Given the description of an element on the screen output the (x, y) to click on. 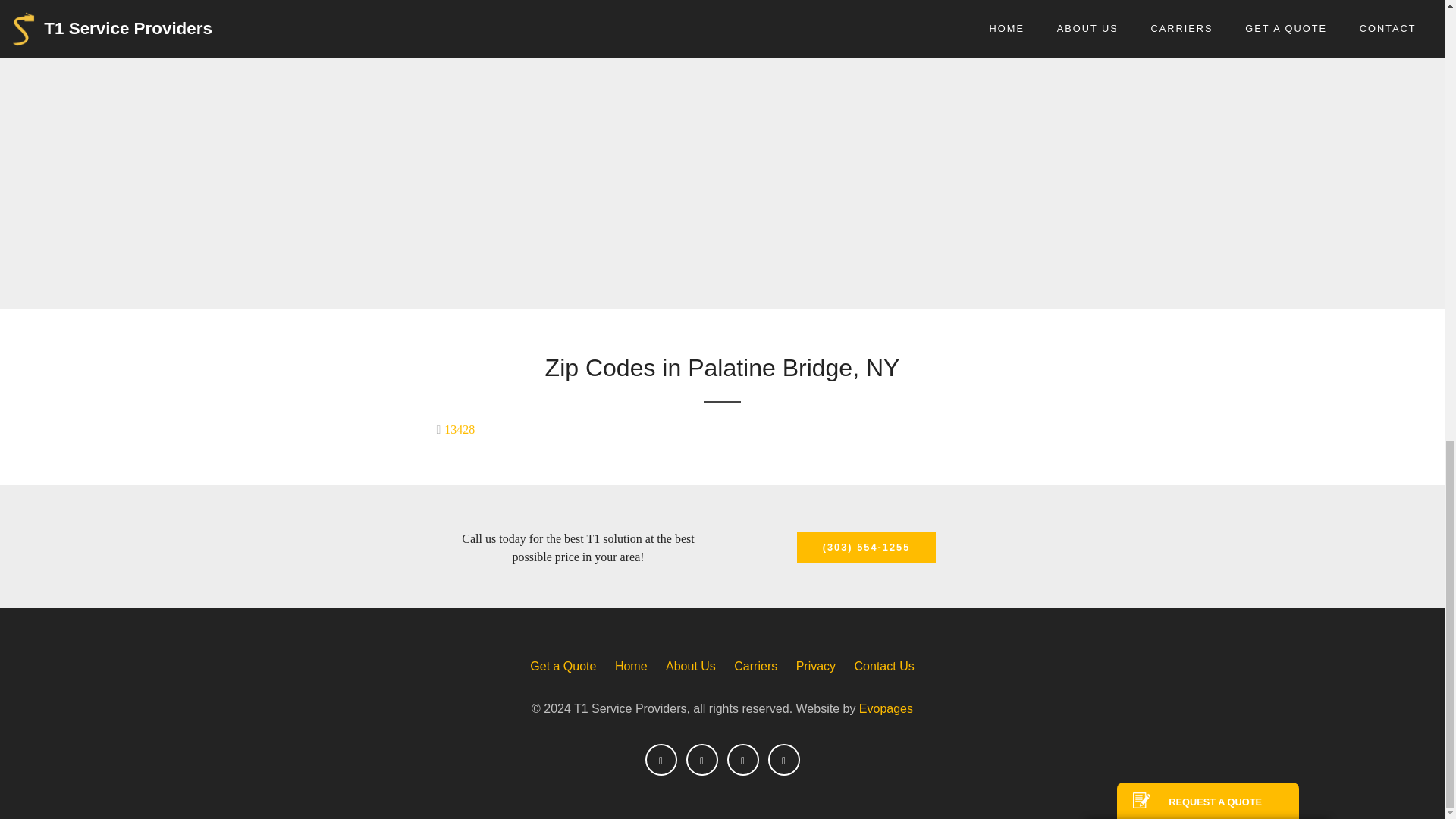
Find us on Facebook (661, 759)
 Send  (1207, 156)
Carriers (755, 666)
Get a Quote (562, 666)
13428 (477, 429)
Google Plus (783, 759)
Privacy (815, 666)
Home (630, 666)
 Send  (1207, 156)
About Us (690, 666)
